Given the description of an element on the screen output the (x, y) to click on. 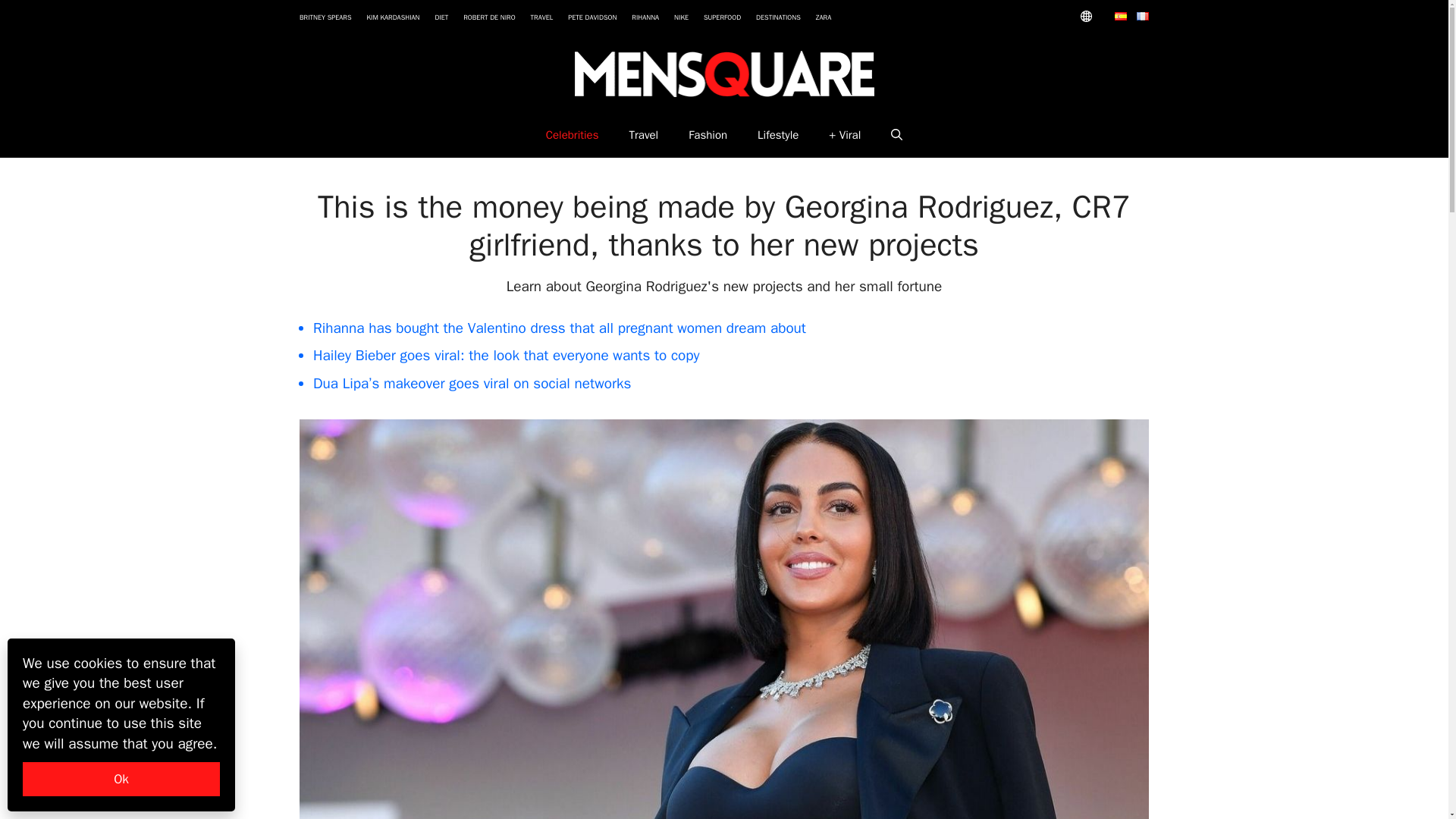
TRAVEL (542, 17)
ROBERT DE NIRO (489, 17)
BRITNEY SPEARS (325, 17)
DIET (440, 17)
PETE DAVIDSON (591, 17)
ZARA (823, 17)
Fashion (707, 135)
DESTINATIONS (777, 17)
Celebrities (572, 135)
